Given the description of an element on the screen output the (x, y) to click on. 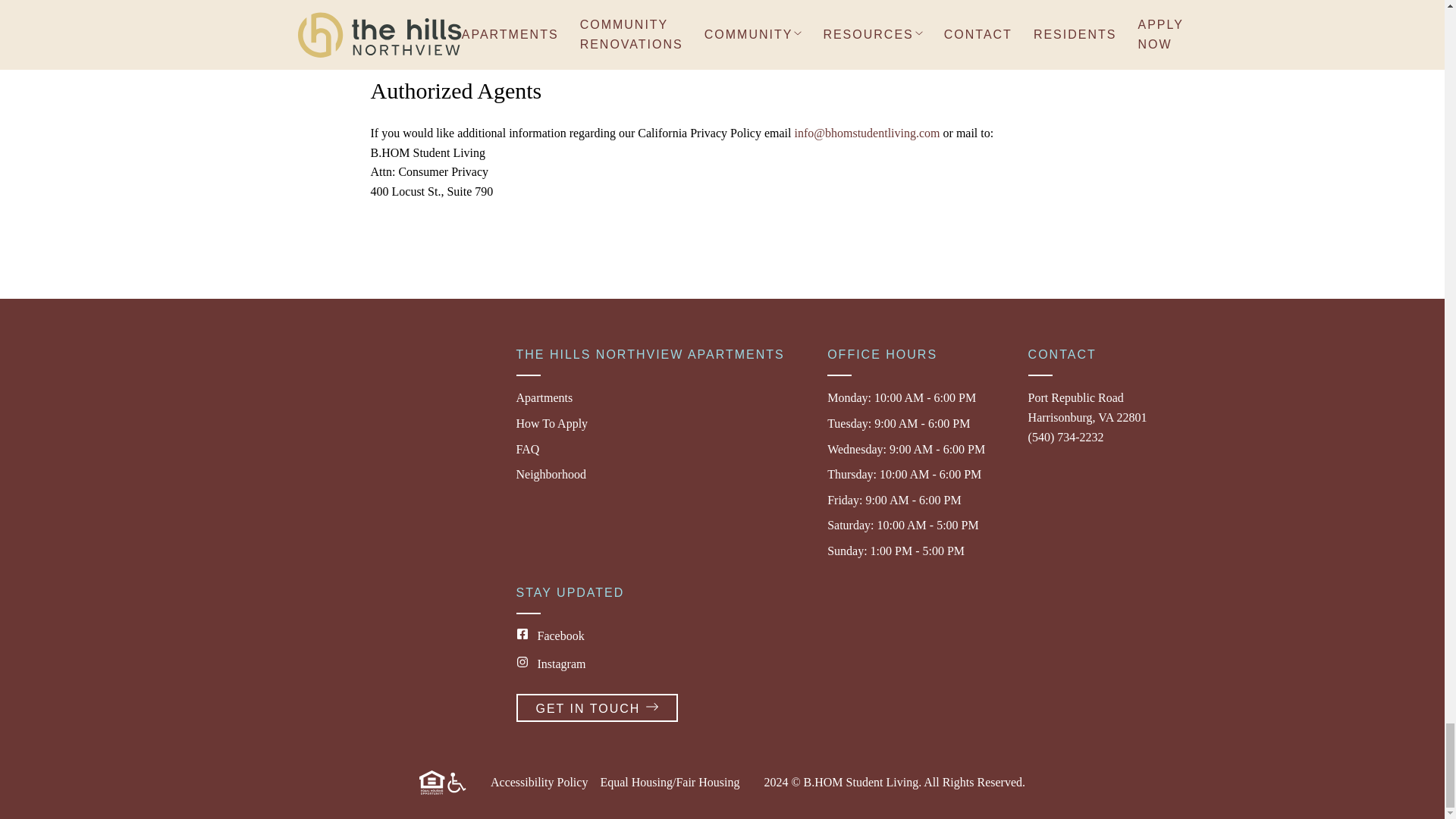
Neighborhood (550, 473)
B.HOM Student Living (860, 781)
Accessibility Policy (539, 781)
FAQ (526, 449)
Apartments (1087, 407)
GET IN TOUCH (543, 397)
How To Apply (596, 707)
Instagram (551, 422)
Facebook (550, 664)
